Given the description of an element on the screen output the (x, y) to click on. 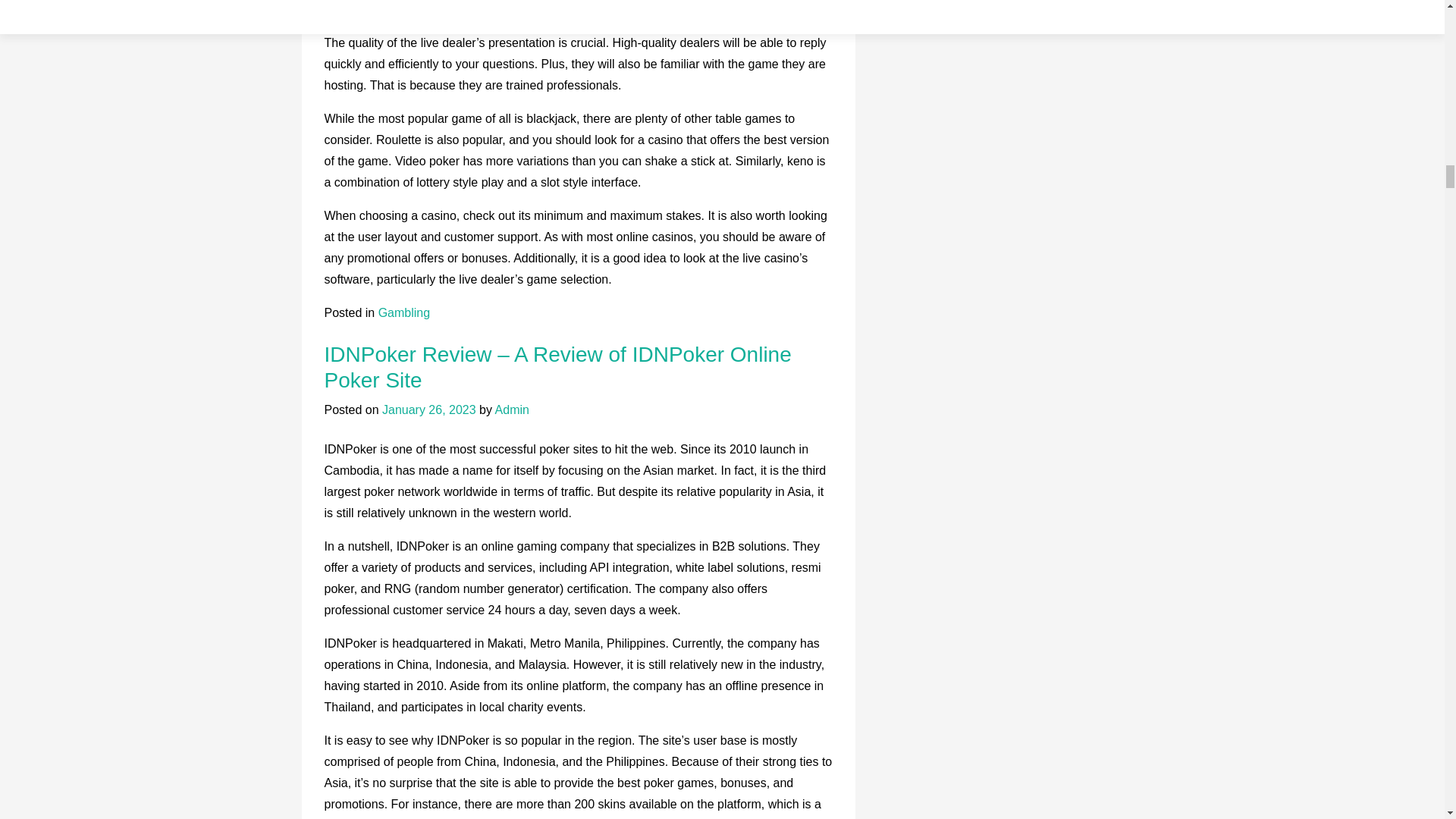
January 26, 2023 (428, 409)
Gambling (403, 312)
Admin (512, 409)
